Given the description of an element on the screen output the (x, y) to click on. 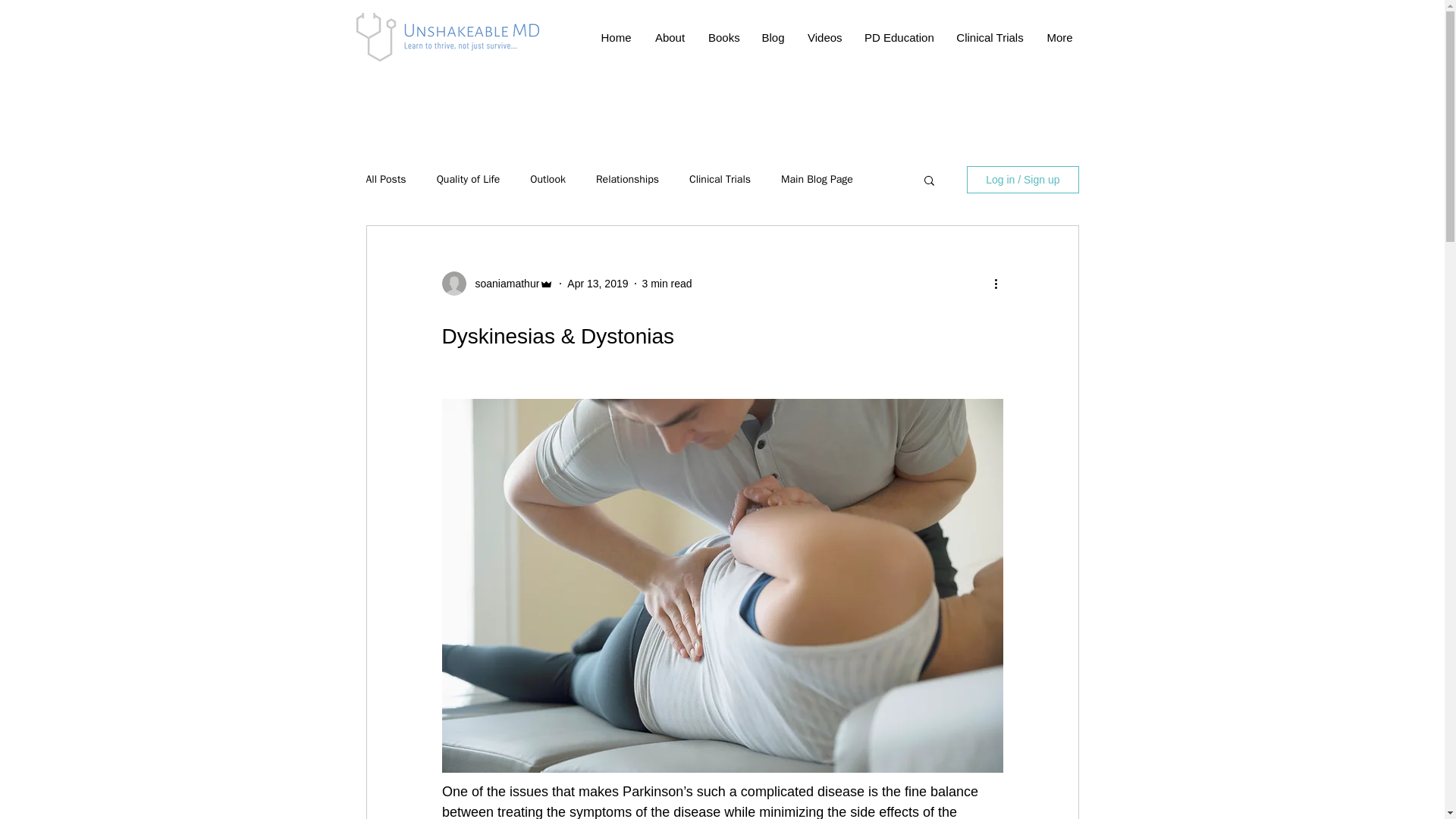
Videos (824, 37)
Outlook (547, 179)
Relationships (627, 179)
Main Blog Page (816, 179)
soaniamathur (501, 283)
Apr 13, 2019 (597, 283)
All Posts (385, 179)
Quality of Life (468, 179)
Clinical Trials (989, 37)
Clinical Trials (719, 179)
Home (616, 37)
3 min read (666, 283)
